Given the description of an element on the screen output the (x, y) to click on. 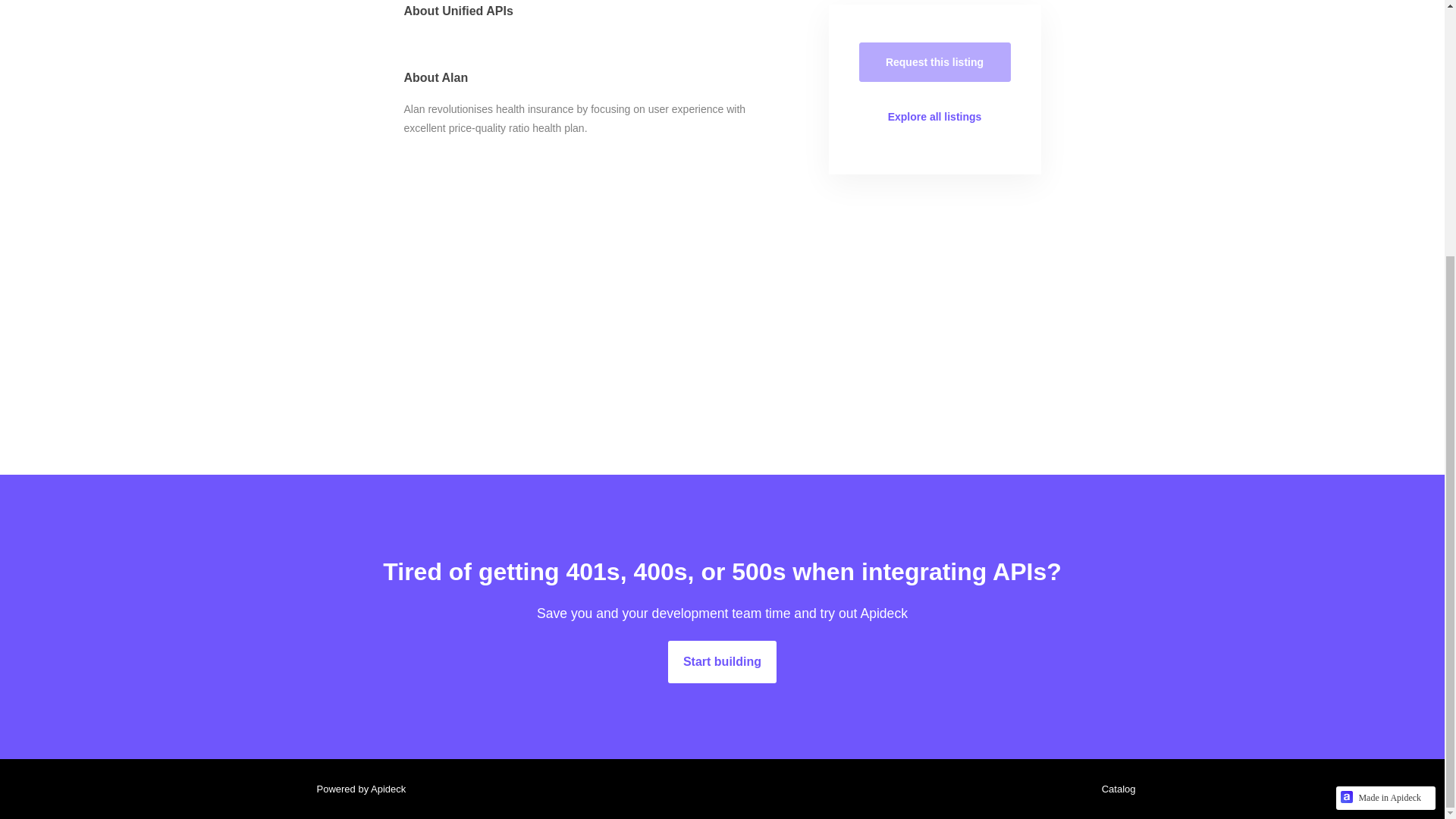
Request this listing (934, 61)
Catalog (1115, 789)
Explore all listings (934, 116)
Start building (722, 661)
Powered by Apideck (356, 789)
